Given the description of an element on the screen output the (x, y) to click on. 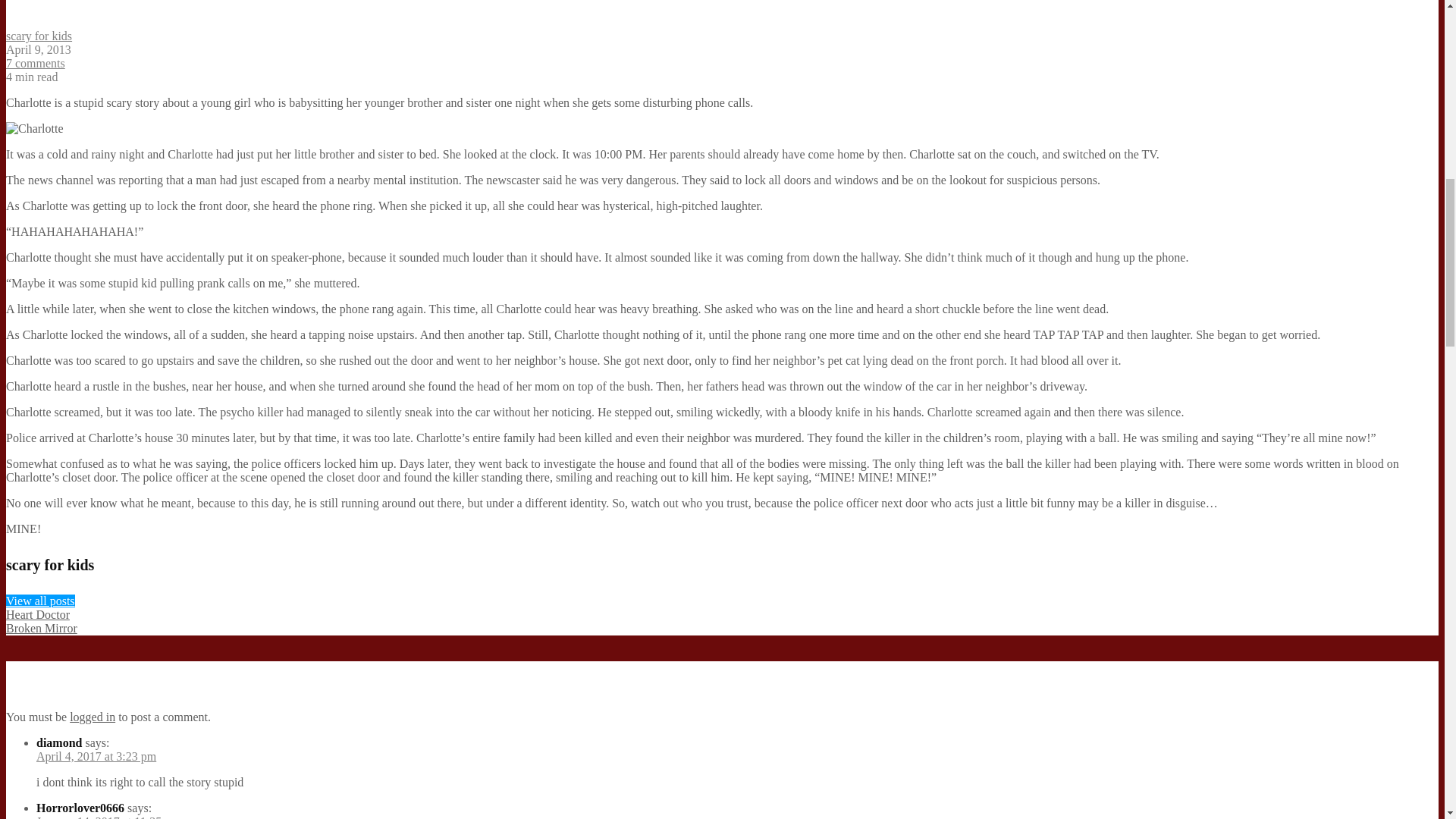
scary for kids (38, 35)
7 comments (35, 62)
January 14, 2017 at 11:35 pm (108, 816)
Heart Doctor (37, 614)
logged in (92, 716)
Broken Mirror (41, 627)
April 4, 2017 at 3:23 pm (95, 756)
Charlotte (34, 128)
View all posts (40, 600)
